Given the description of an element on the screen output the (x, y) to click on. 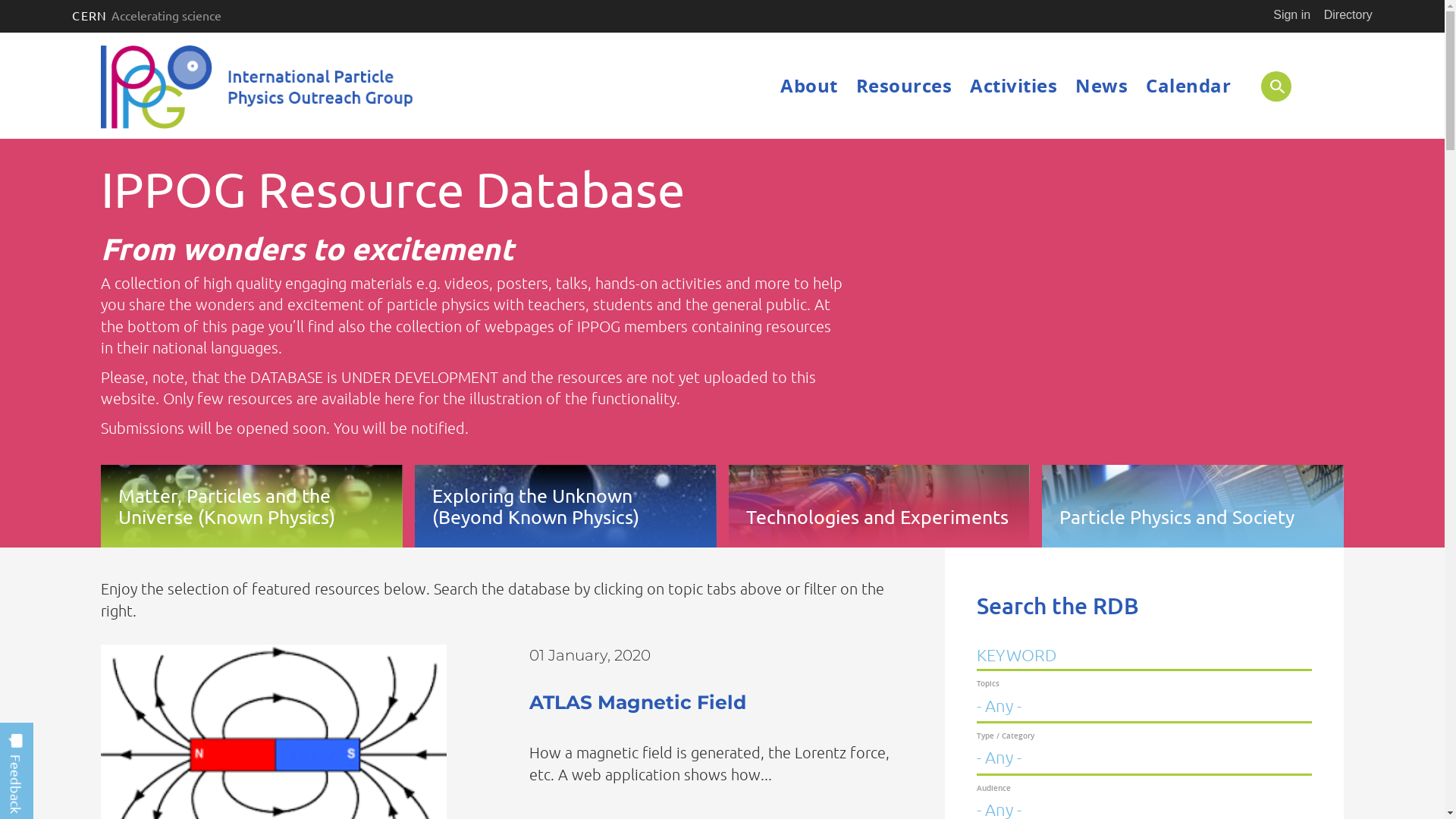
About Element type: text (809, 85)
SEARCH Element type: text (1291, 85)
Activities Element type: text (1013, 85)
News Element type: text (1101, 85)
Particle Physics and Society Element type: text (1192, 505)
ATLAS Magnetic Field Element type: text (637, 702)
Calendar Element type: text (1187, 85)
Home Element type: hover (258, 87)
Matter, Particles and the Universe (Known Physics) Element type: text (251, 505)
Directory Element type: text (1347, 14)
Technologies and Experiments Element type: text (878, 505)
Resources Element type: text (904, 85)
Skip to main content Element type: text (0, 32)
Sign in Element type: text (1291, 14)
Exploring the Unknown (Beyond Known Physics) Element type: text (565, 505)
CERN Accelerating science Element type: text (145, 15)
